Given the description of an element on the screen output the (x, y) to click on. 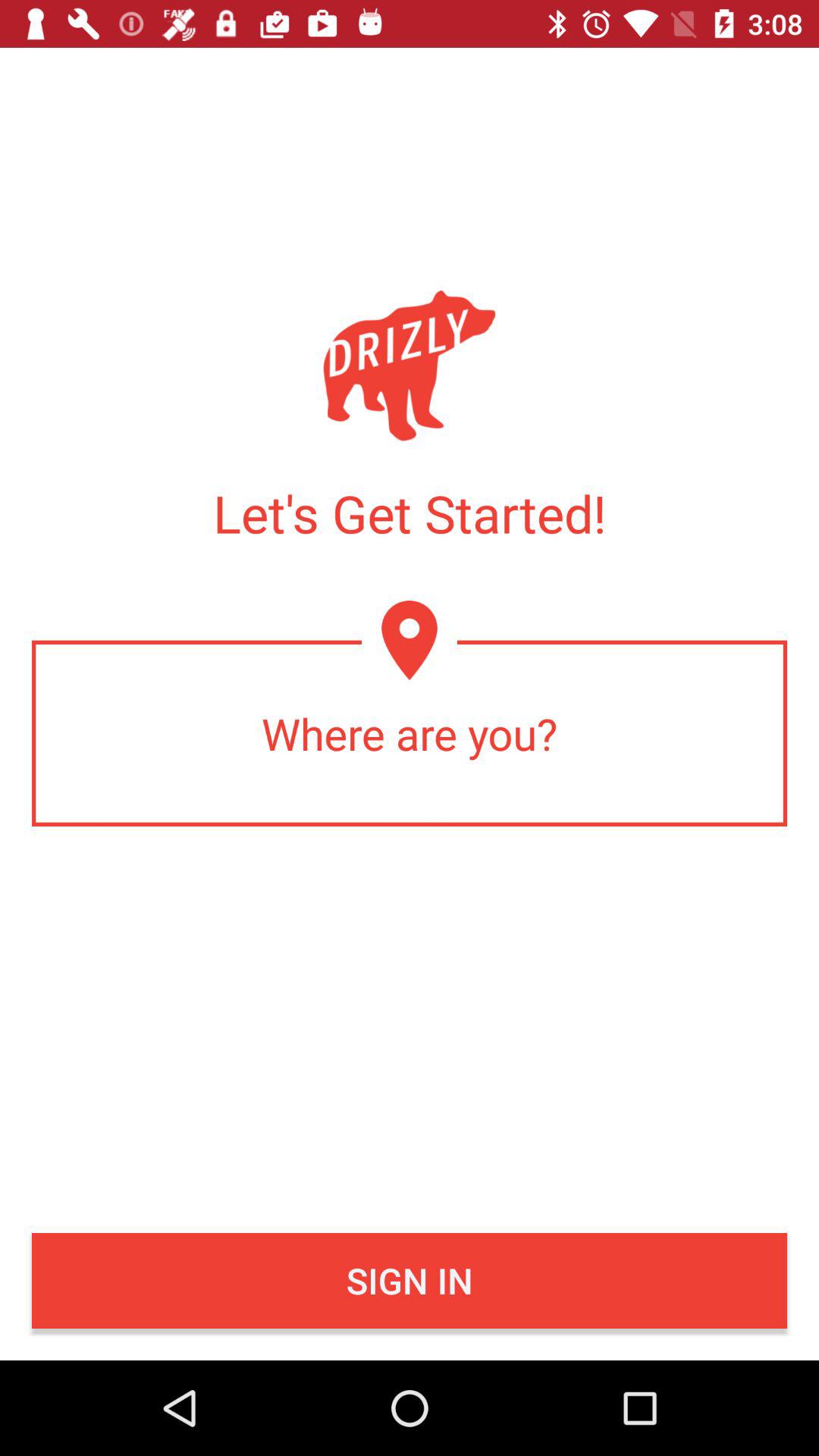
tap icon below where are you? item (409, 1280)
